Given the description of an element on the screen output the (x, y) to click on. 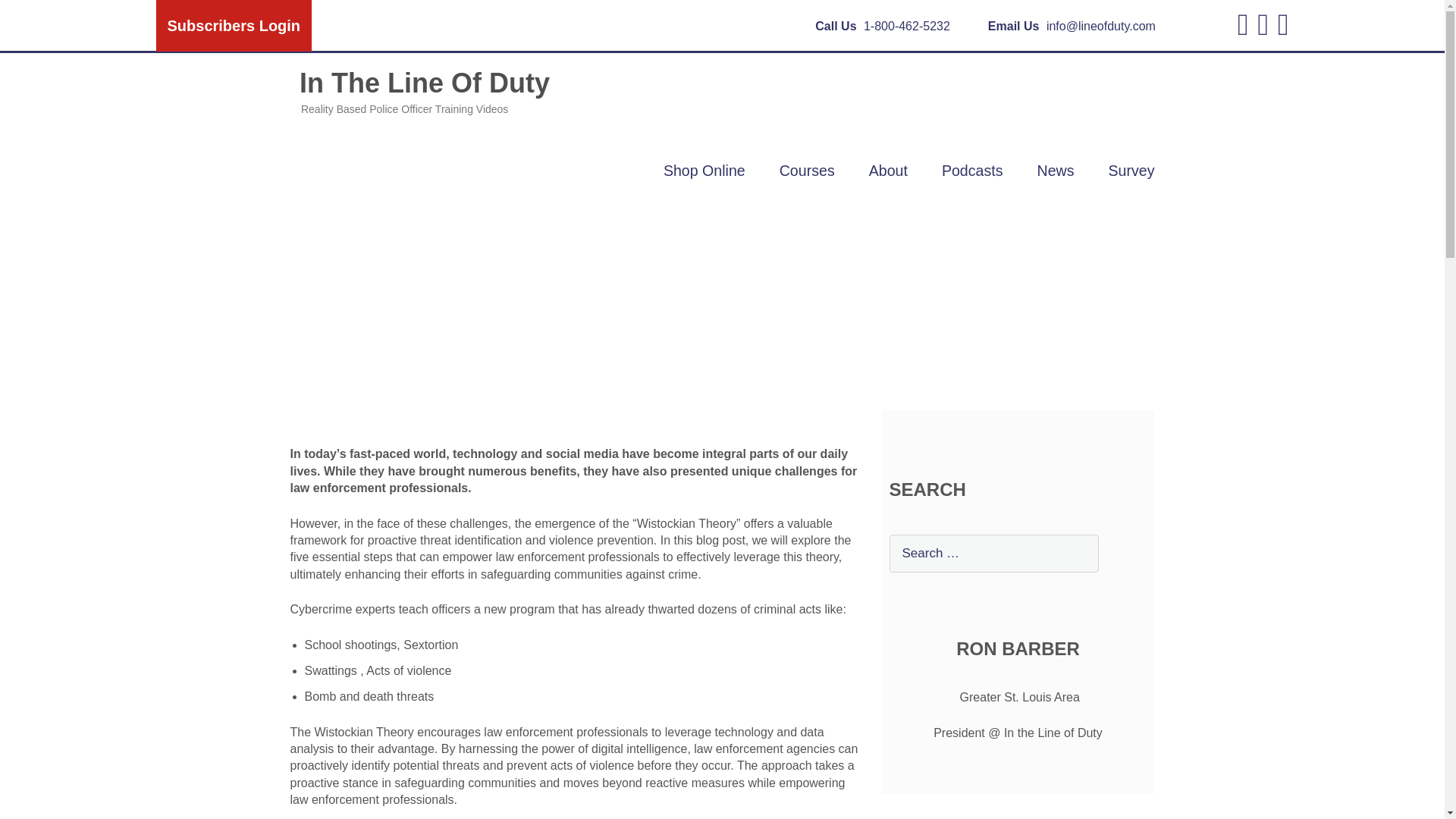
Shop Online (704, 170)
In The Line Of Duty (418, 91)
About (888, 170)
Podcasts (972, 170)
Courses (806, 170)
Search for: (992, 553)
News (1055, 170)
Survey (1131, 170)
Subscribers Login (233, 25)
